Given the description of an element on the screen output the (x, y) to click on. 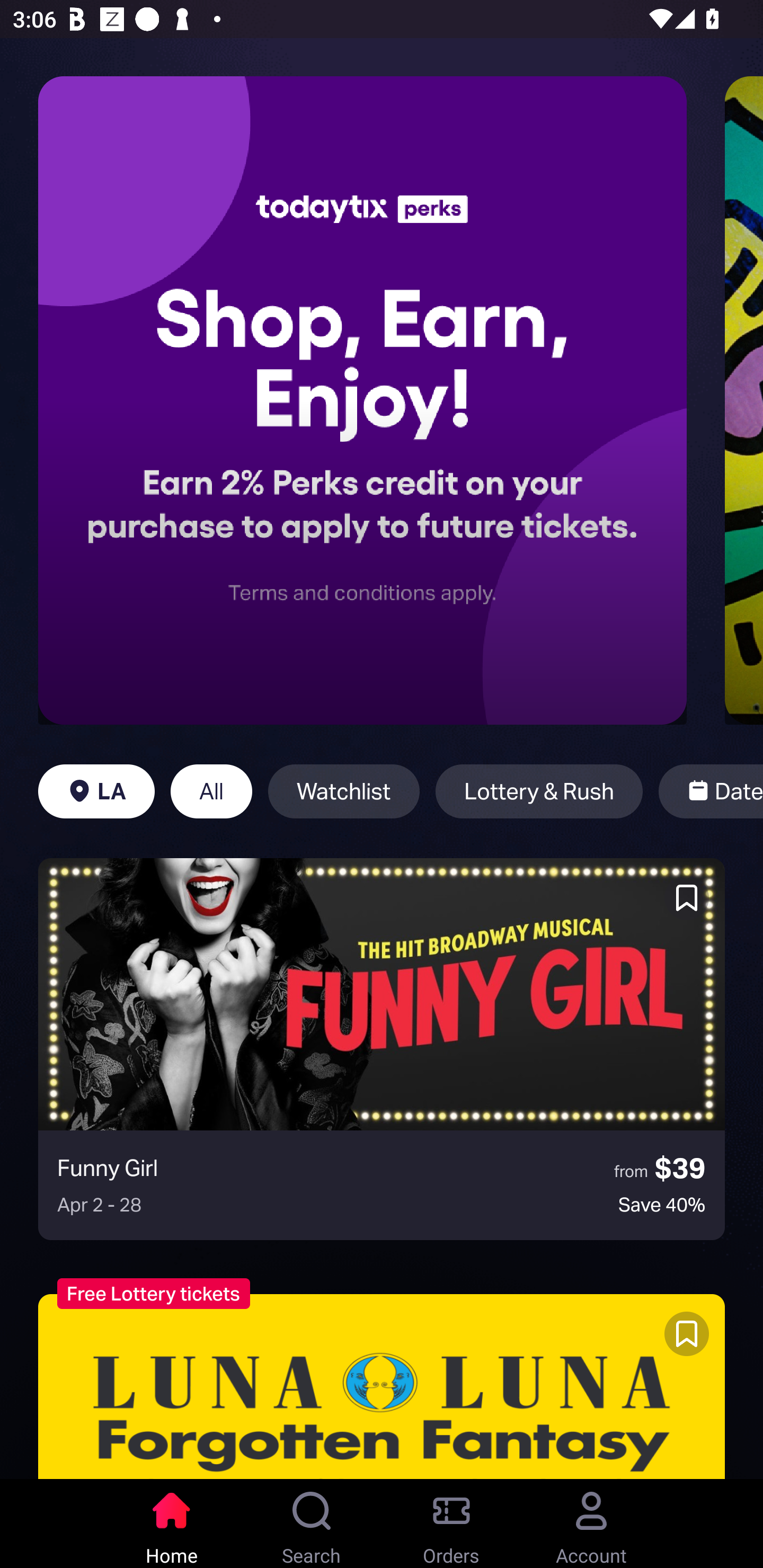
LA (96, 791)
All (211, 791)
Watchlist (343, 791)
Lottery & Rush (538, 791)
Funny Girl from $39 Apr 2 - 28 Save 40% (381, 1048)
Search (311, 1523)
Orders (451, 1523)
Account (591, 1523)
